Given the description of an element on the screen output the (x, y) to click on. 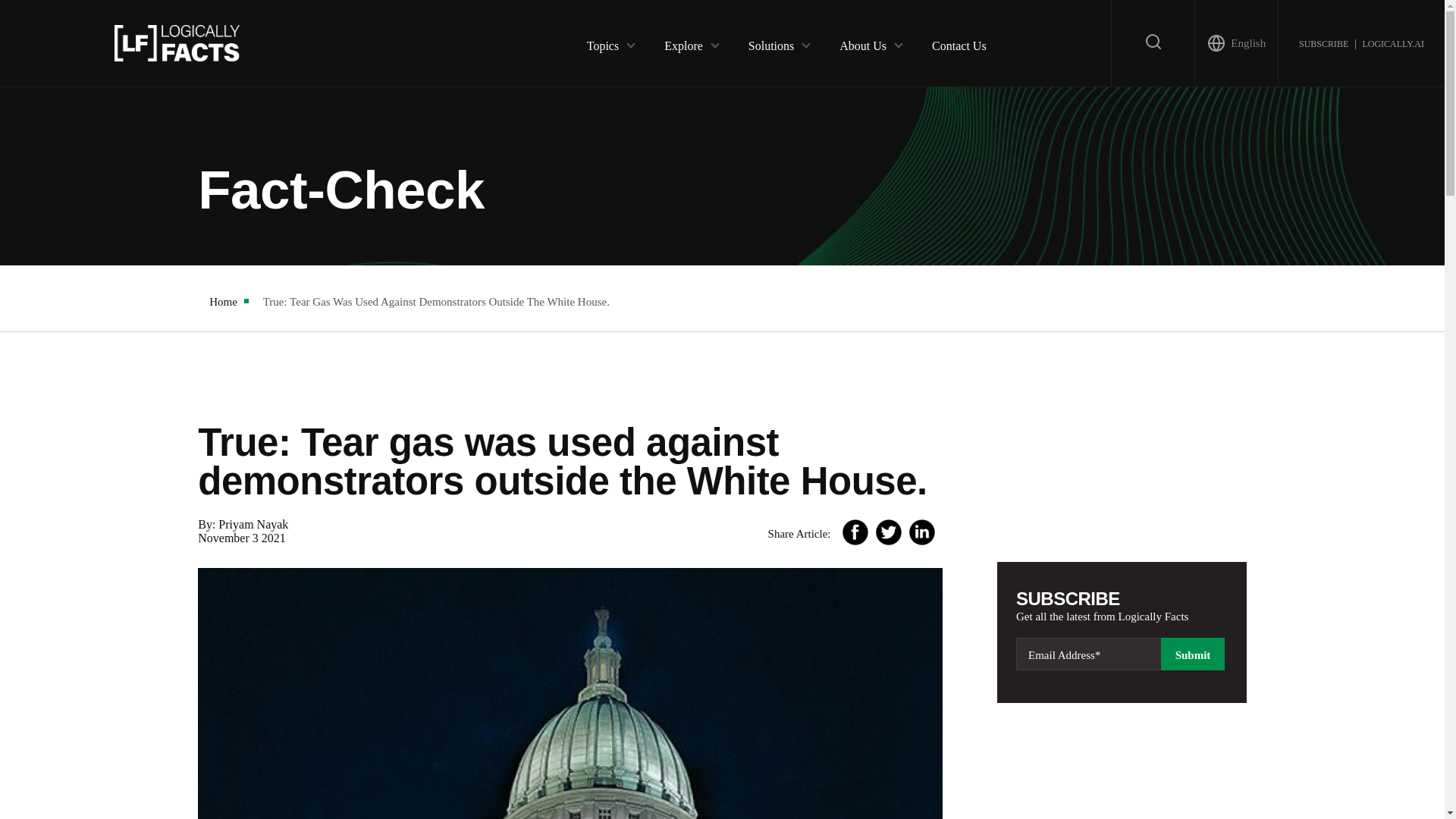
Solutions (770, 42)
LOGICALLY.AI (1392, 42)
Submit (1192, 654)
Topics (602, 42)
Contact Us (959, 42)
Explore (683, 42)
About Us (863, 42)
SUBSCRIBE (1323, 42)
Home (223, 301)
